Given the description of an element on the screen output the (x, y) to click on. 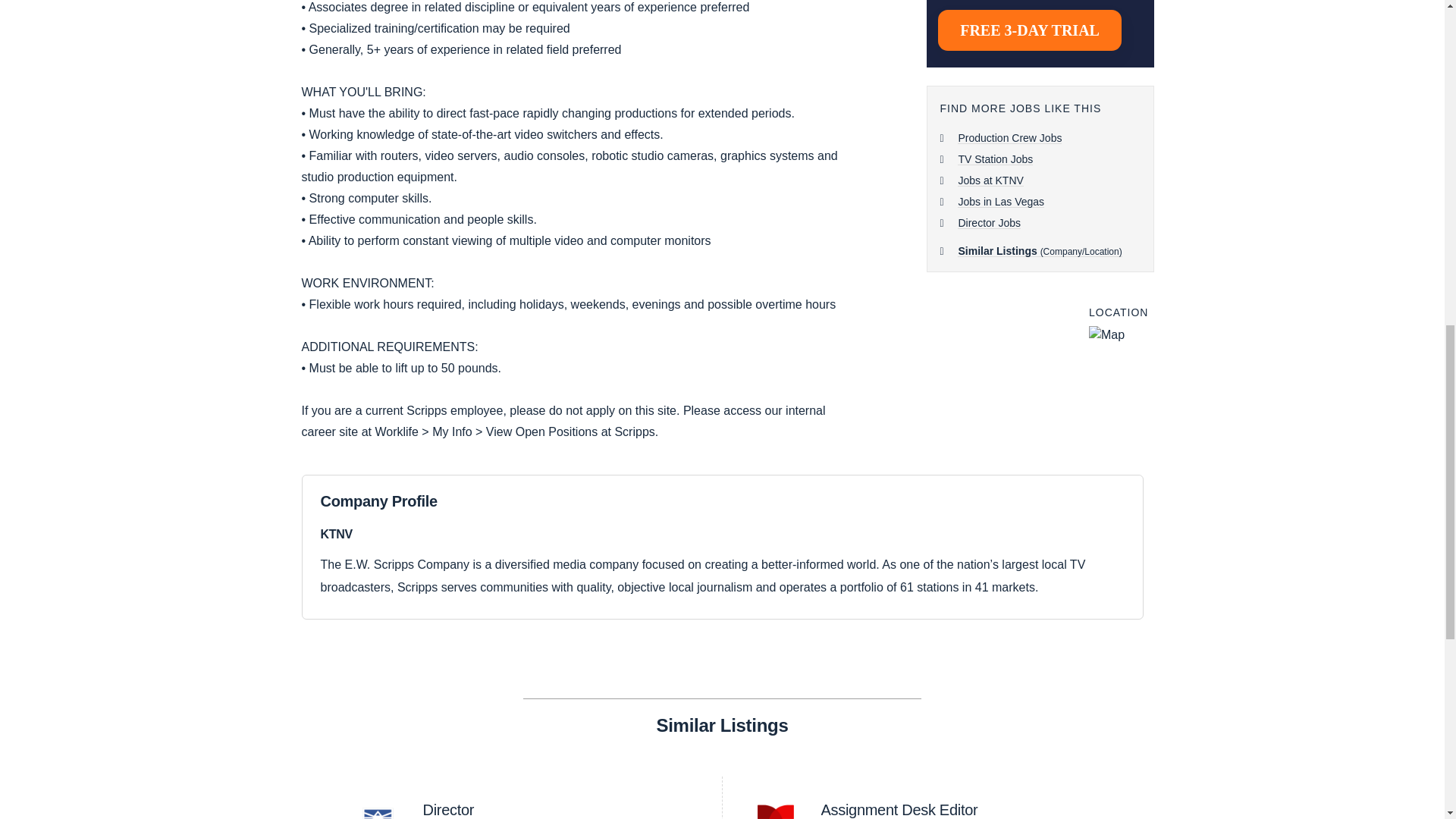
TV Station Jobs (995, 159)
Director Jobs (989, 223)
Production Crew Jobs (1009, 137)
Jobs at KTNV (990, 180)
Jobs in Las Vegas (959, 809)
